Given the description of an element on the screen output the (x, y) to click on. 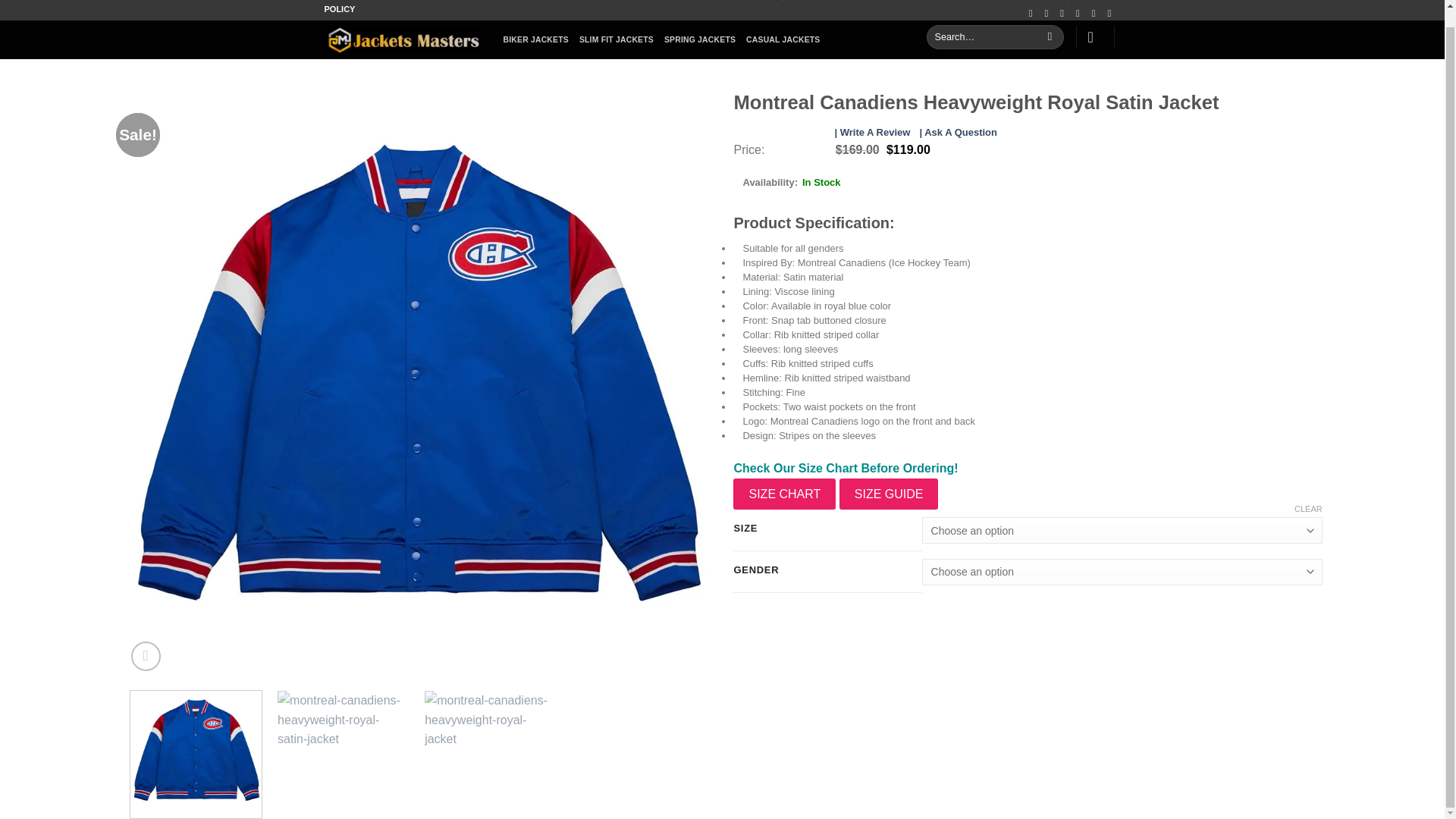
SLIM FIT JACKETS (616, 39)
SIZE GUIDE (889, 494)
CASUAL JACKETS (782, 39)
Jackets Masters (402, 40)
Zoom (145, 655)
BIKER JACKETS (536, 39)
Search (1050, 37)
About (684, 2)
Contact Us (1093, 2)
Size Chart (642, 2)
Shipping Policy (979, 2)
SPRING JACKETS (699, 39)
Privacy Policy (815, 2)
